Given the description of an element on the screen output the (x, y) to click on. 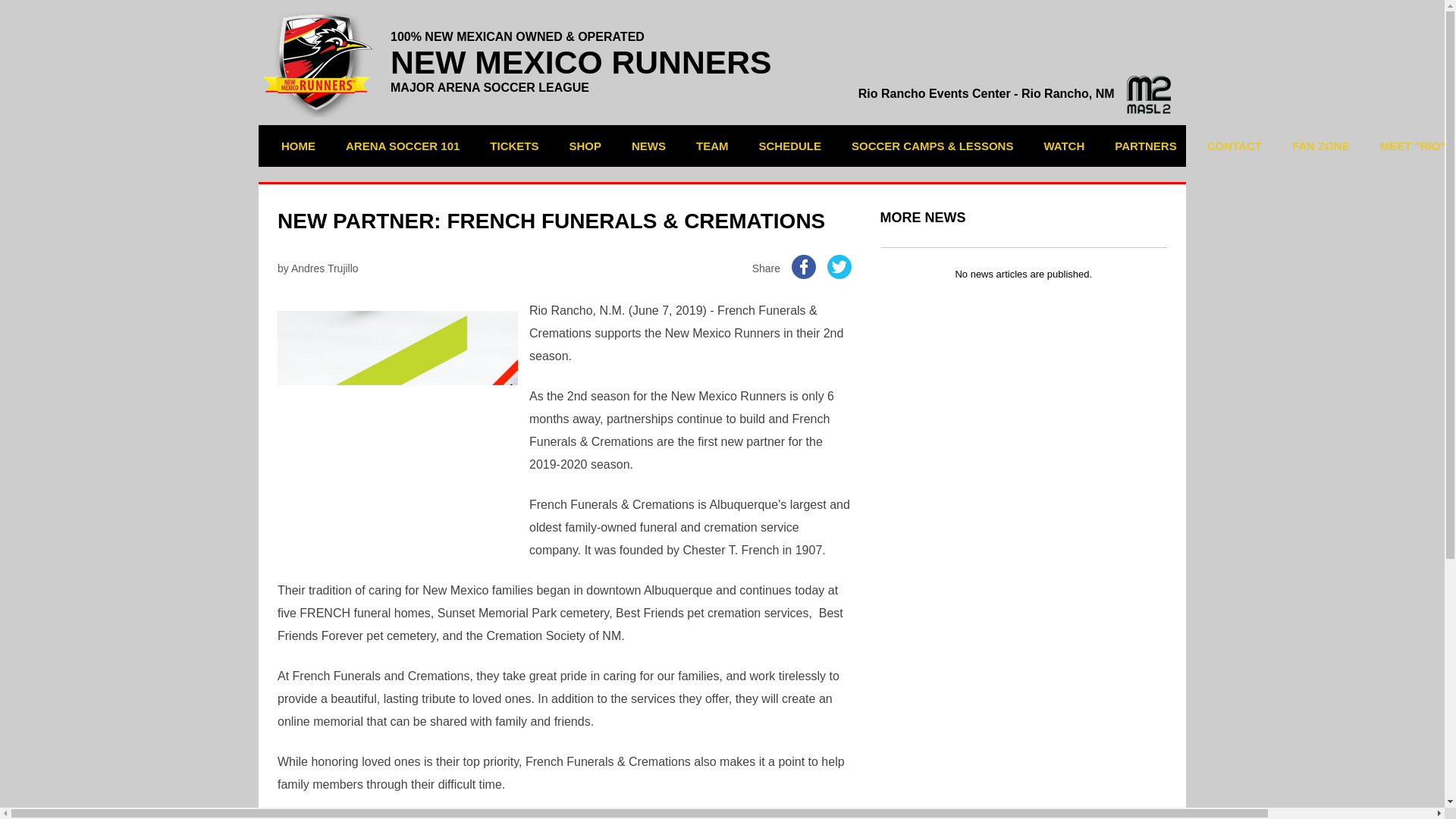
Rio Rancho Events Center - Rio Rancho, NM (1014, 92)
SCHEDULE (790, 146)
HOME (297, 146)
ARENA SOCCER 101 (402, 146)
WATCH (1064, 146)
MEET "RIO" OUR MASCOT (1412, 146)
